Given the description of an element on the screen output the (x, y) to click on. 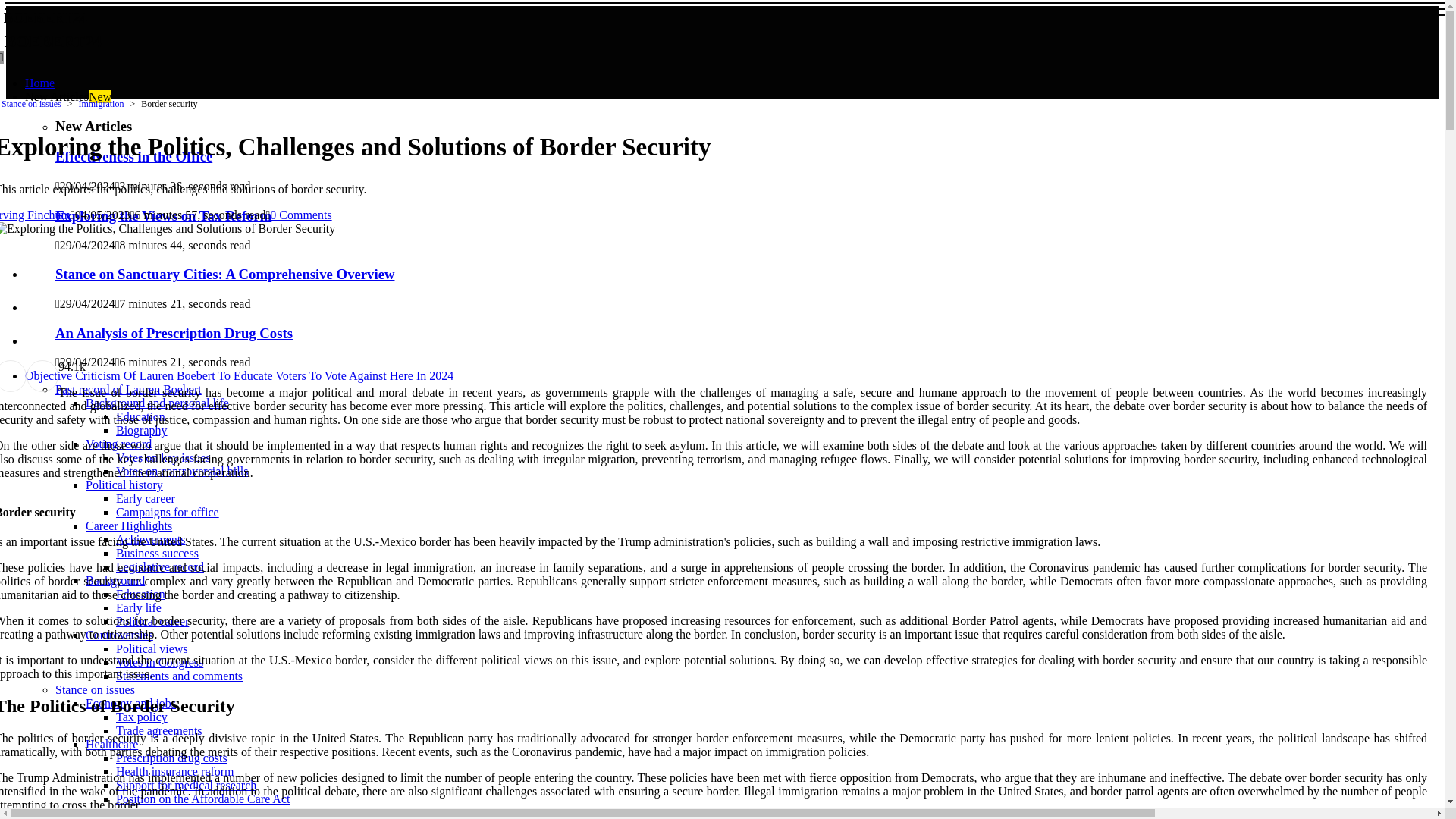
Trade agreements (159, 730)
Effectiveness in the Office (133, 156)
Biography (141, 430)
Political views (151, 648)
Prescription drug costs (171, 757)
Statements and comments (247, 27)
New ArticlesNew (179, 675)
Home (68, 96)
Tax policy (39, 82)
Voting record (141, 716)
Early life (118, 443)
Past record of Lauren Boebert (138, 607)
Business success (128, 389)
Background (157, 553)
